Given the description of an element on the screen output the (x, y) to click on. 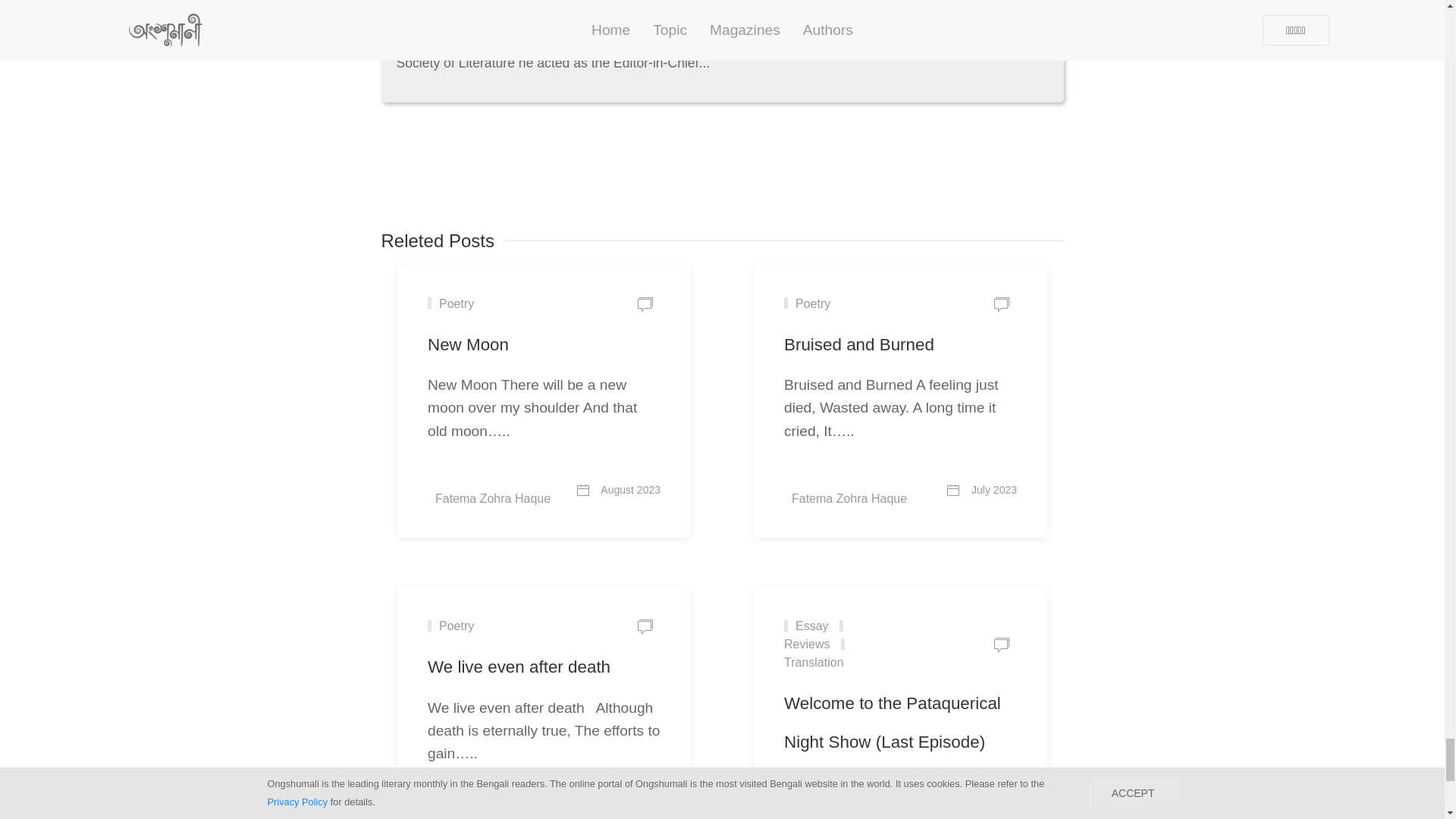
Fatema Zohra Haque (505, 489)
Bruised and Burned (859, 343)
Essay (806, 625)
Translation (817, 653)
We live even after death (519, 666)
Poetry (451, 625)
New Moon (468, 343)
Poetry (806, 303)
Poetry (451, 303)
Reviews (817, 634)
